Given the description of an element on the screen output the (x, y) to click on. 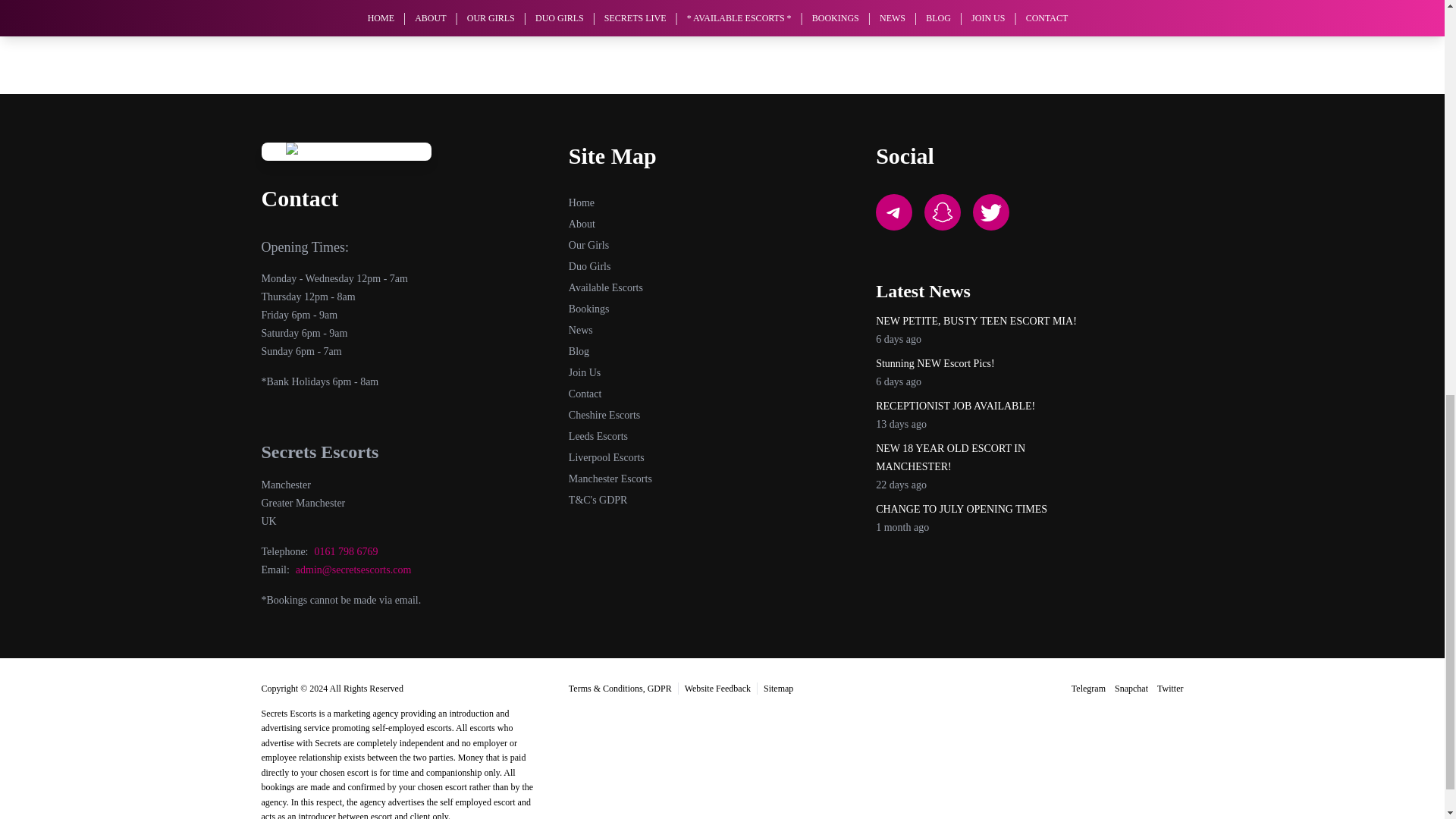
0161 798 6769 (345, 551)
Secrets Live (345, 151)
Our Girls (588, 244)
Bookings (589, 308)
News (580, 329)
Cheshire Escorts (604, 414)
Contact (585, 393)
Leeds Escorts (598, 436)
Duo Girls (590, 266)
Available Escorts (606, 287)
